Given the description of an element on the screen output the (x, y) to click on. 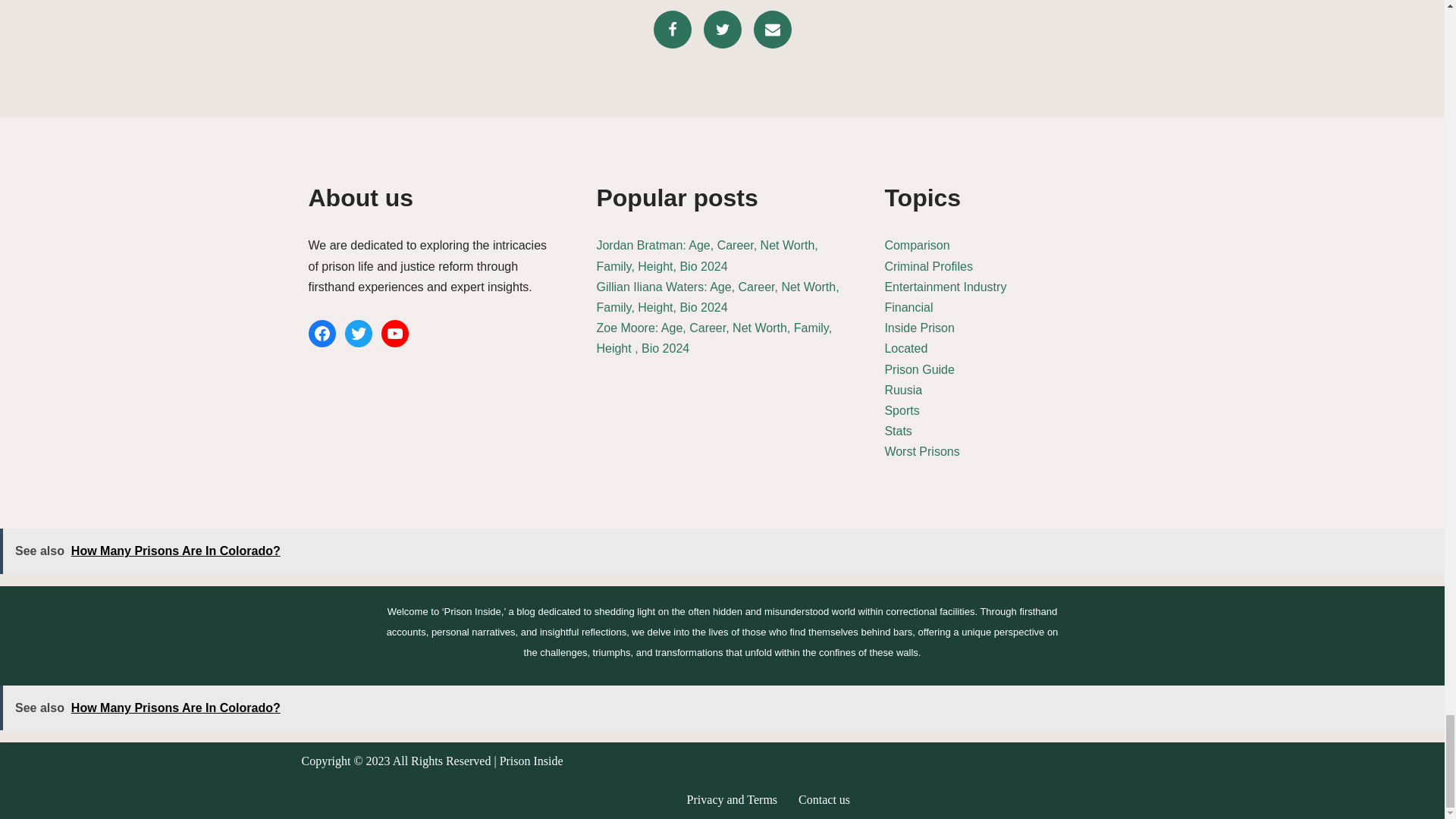
Twitter (722, 29)
Facebook (672, 29)
